Given the description of an element on the screen output the (x, y) to click on. 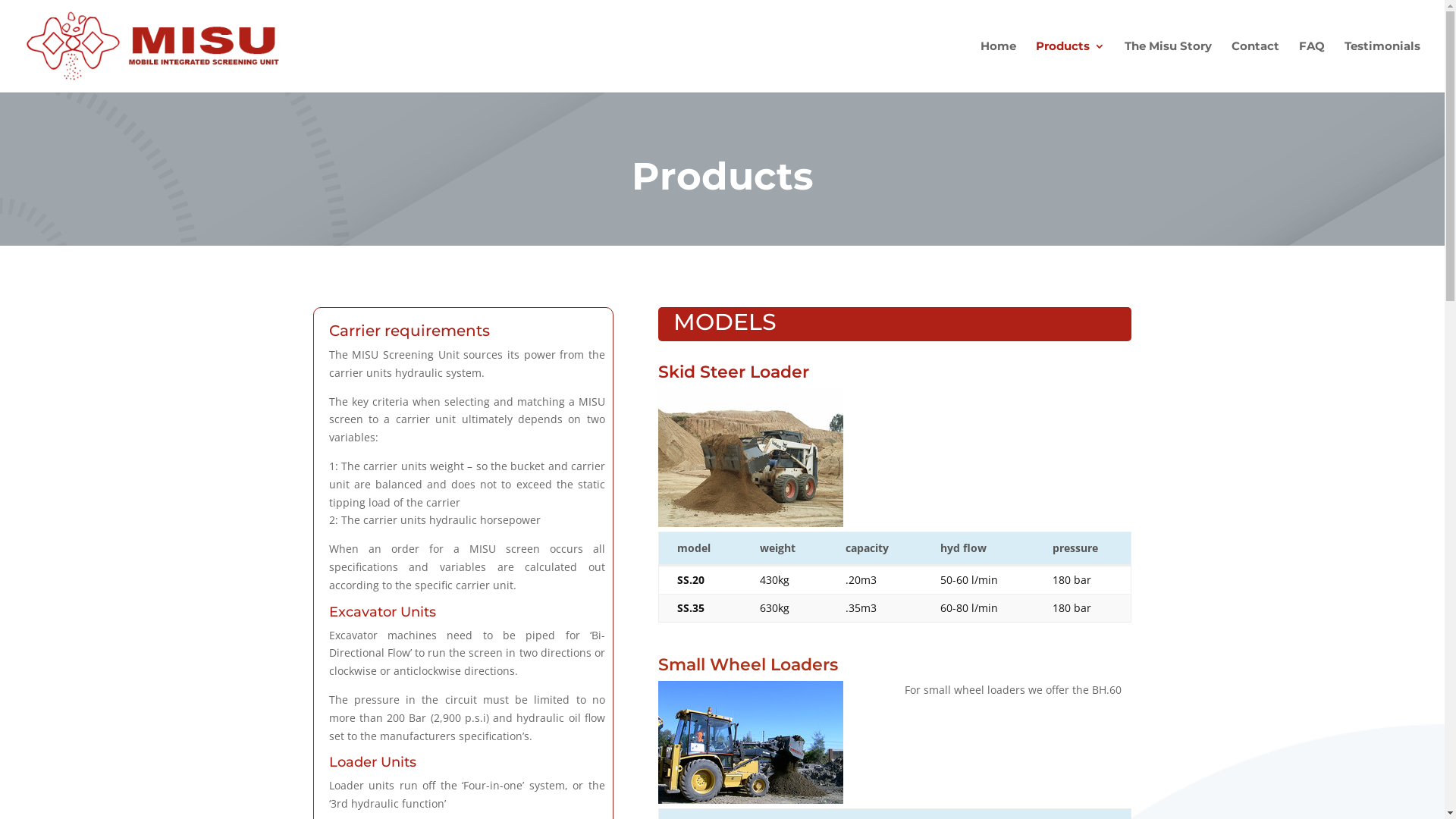
Contact Element type: text (1255, 66)
The Misu Story Element type: text (1167, 66)
Home Element type: text (998, 66)
Testimonials Element type: text (1382, 66)
FAQ Element type: text (1311, 66)
Products Element type: text (1069, 66)
